Given the description of an element on the screen output the (x, y) to click on. 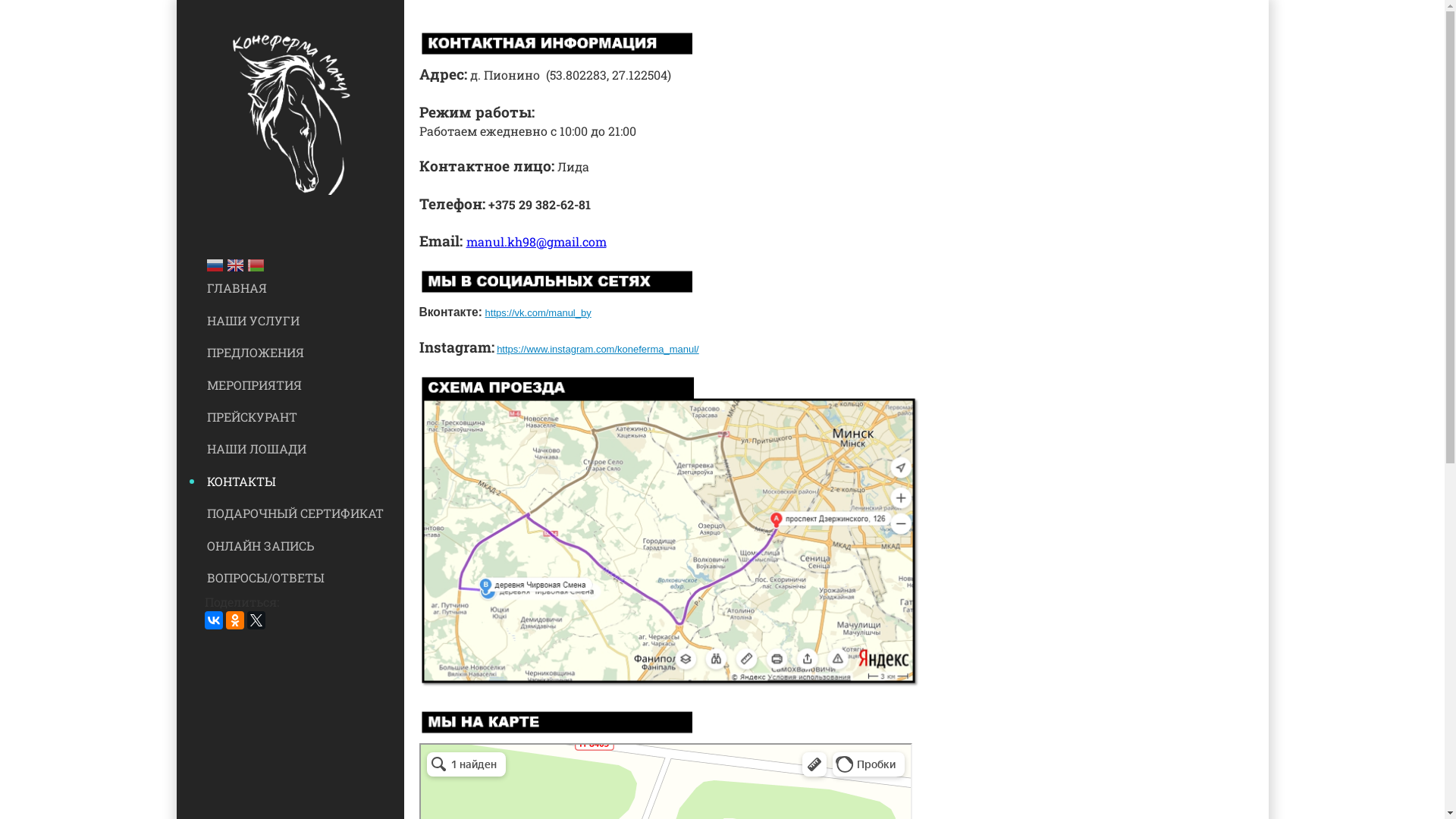
Twitter Element type: hover (256, 620)
https://www.instagram.com/koneferma_manul/ Element type: text (597, 348)
manul.kh98@gmail.com Element type: text (535, 241)
https://vk.com/manul_by Element type: text (538, 311)
